Given the description of an element on the screen output the (x, y) to click on. 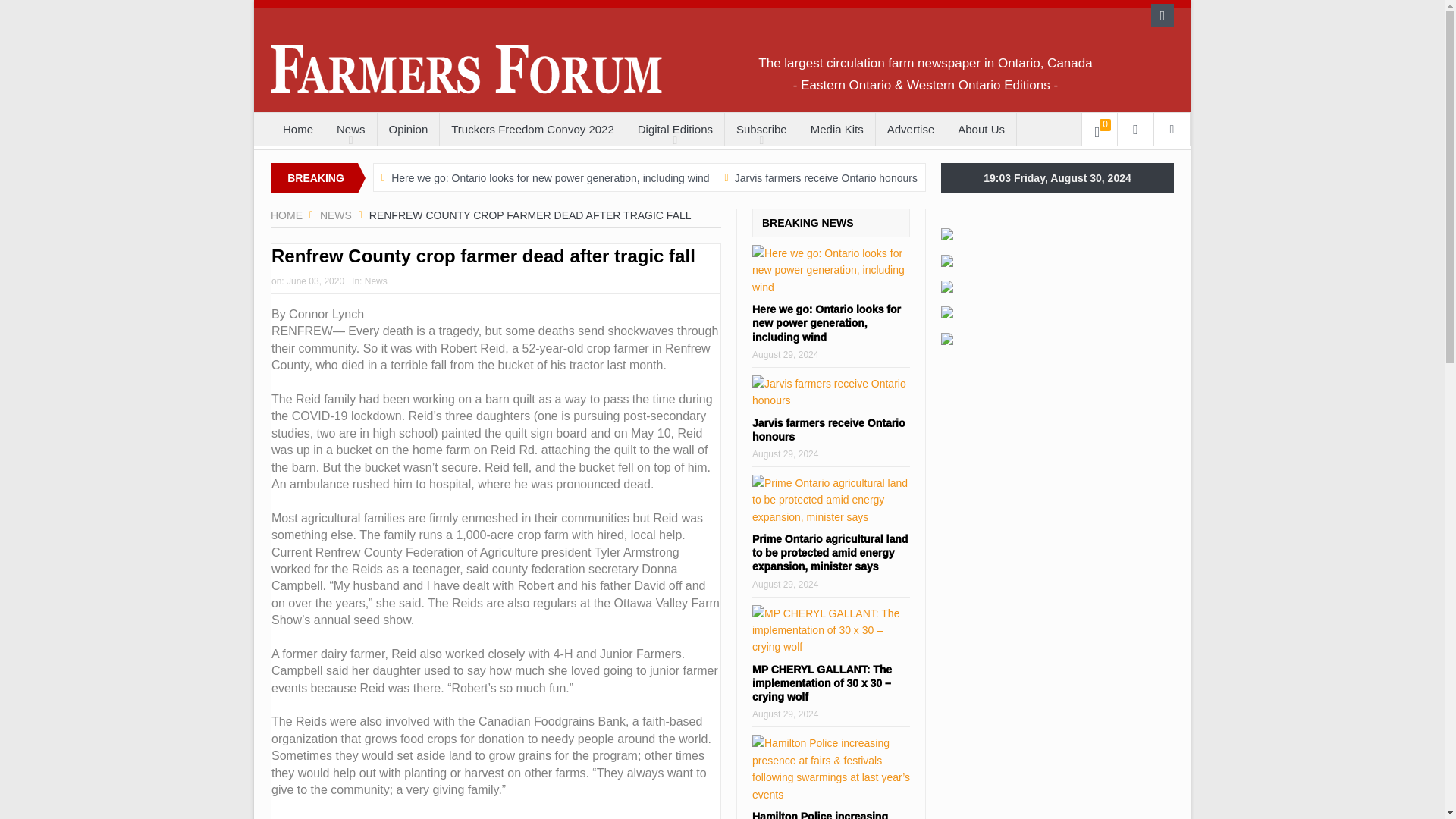
About Us (981, 129)
Truckers Freedom Convoy 2022 (532, 129)
Media Kits (837, 129)
Home (297, 129)
Opinion (408, 129)
0 (1099, 129)
View all posts in News (376, 281)
News (336, 215)
Subscribe (761, 129)
News (350, 129)
